Given the description of an element on the screen output the (x, y) to click on. 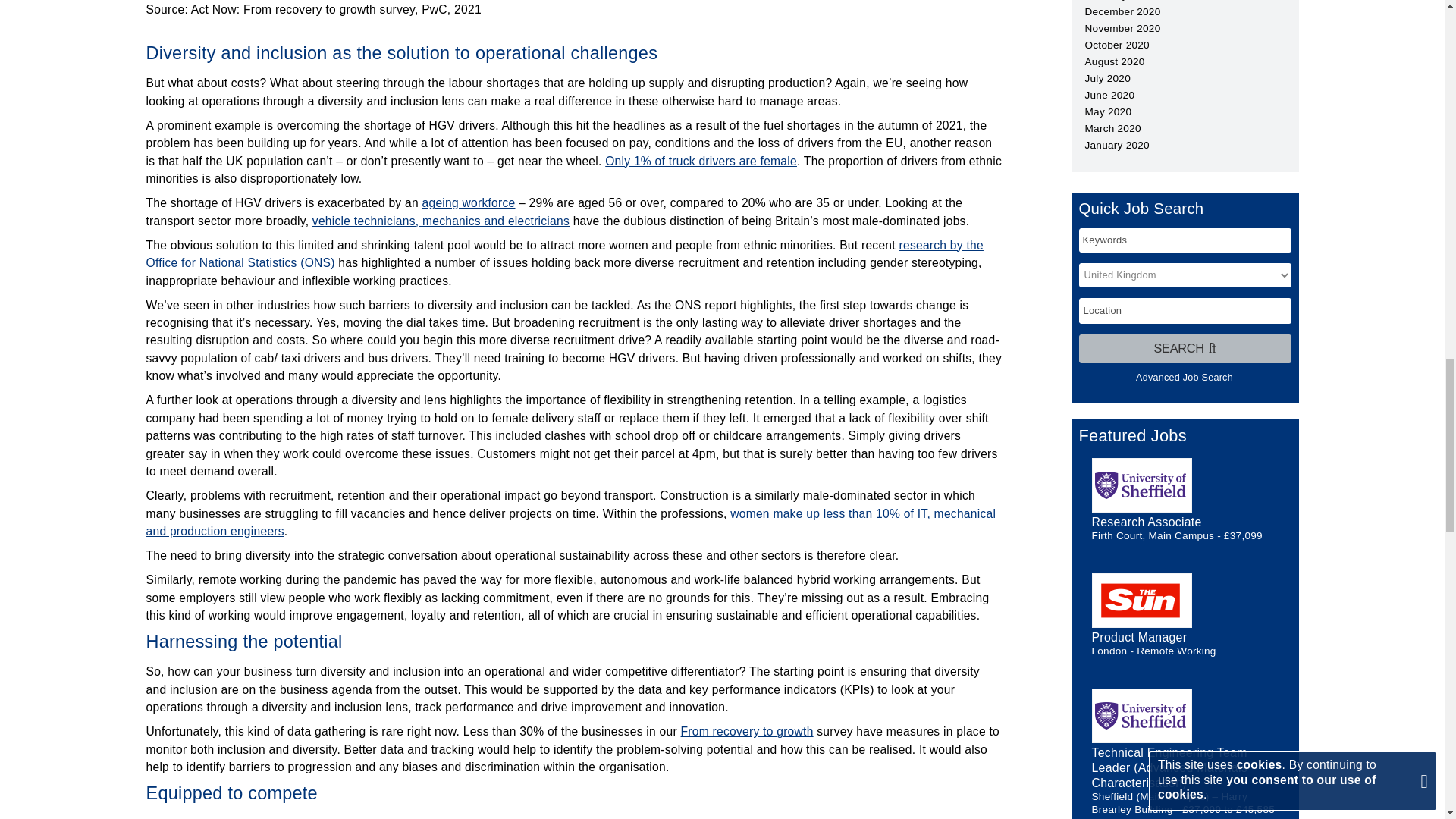
The University of Sheffield (1142, 484)
Research Associate (1147, 521)
vehicle technicians, mechanics and electricians (441, 220)
News UK (1142, 600)
From recovery to growth (747, 730)
Product Manager (1140, 636)
The University of Sheffield (1142, 715)
Keywords (1185, 240)
ageing workforce (468, 202)
